Given the description of an element on the screen output the (x, y) to click on. 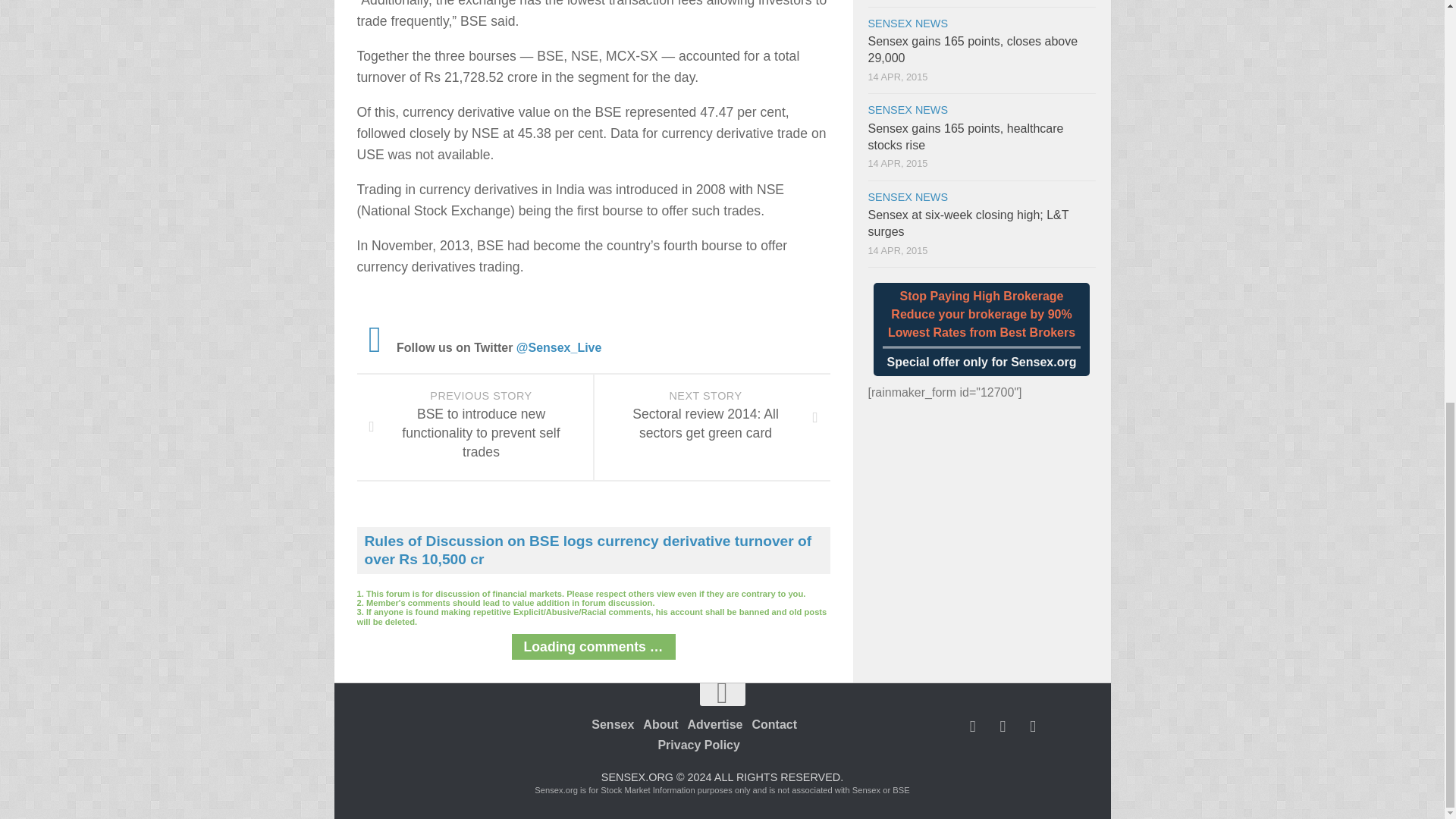
Sensex gains 165 points, closes above 29,000 (972, 49)
Share on Facebook (971, 725)
SENSEX NEWS (907, 110)
SENSEX NEWS (907, 196)
Sensex gains 165 points, healthcare stocks rise (964, 135)
Sensex gains 165 points, closes above 29,000 (972, 49)
Sensex gains 165 points, healthcare stocks rise (964, 135)
Share on Linkedin (1033, 725)
Share on Twitter (1002, 725)
SENSEX NEWS (907, 23)
